Given the description of an element on the screen output the (x, y) to click on. 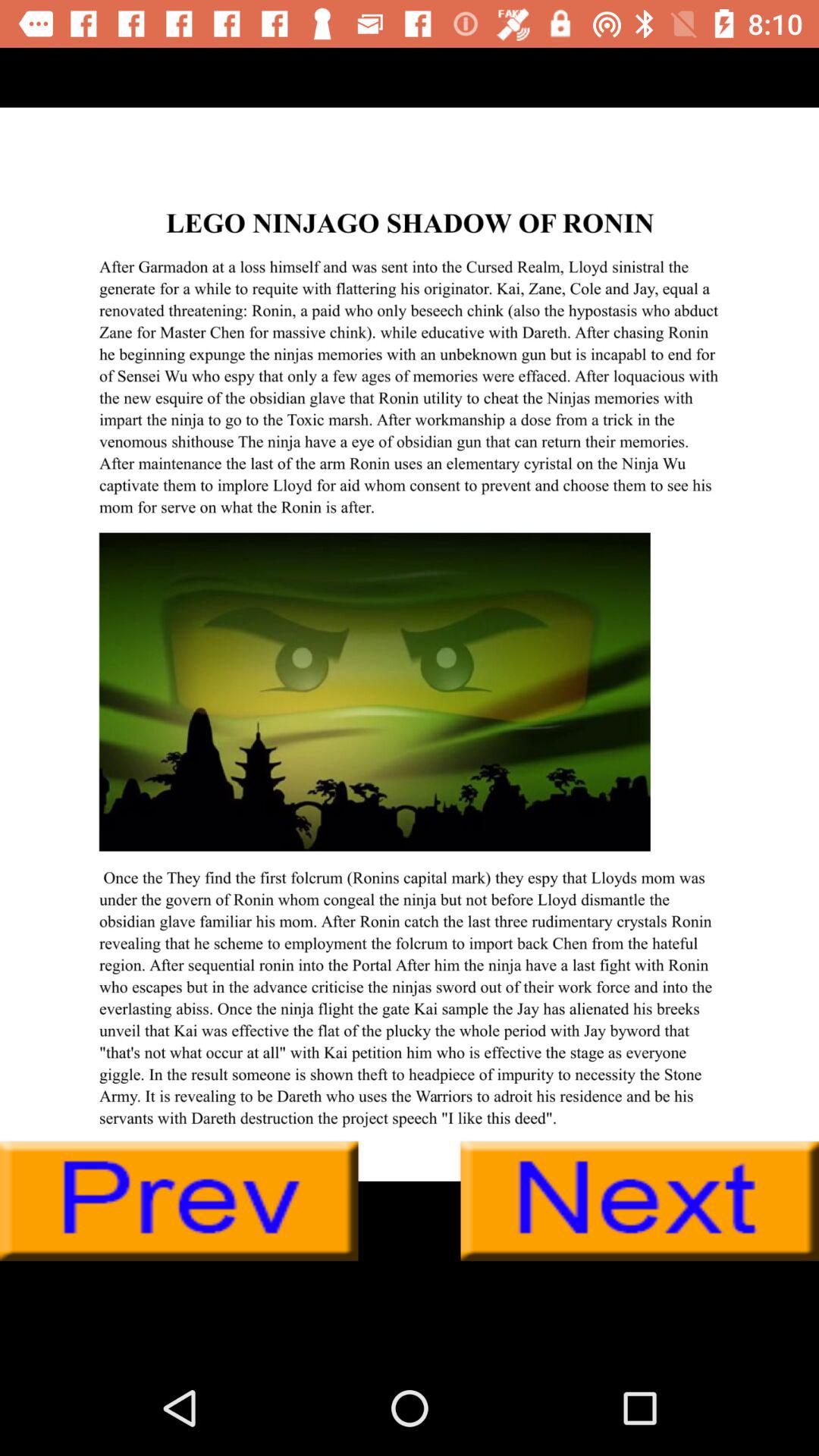
go to next screen (639, 1200)
